Given the description of an element on the screen output the (x, y) to click on. 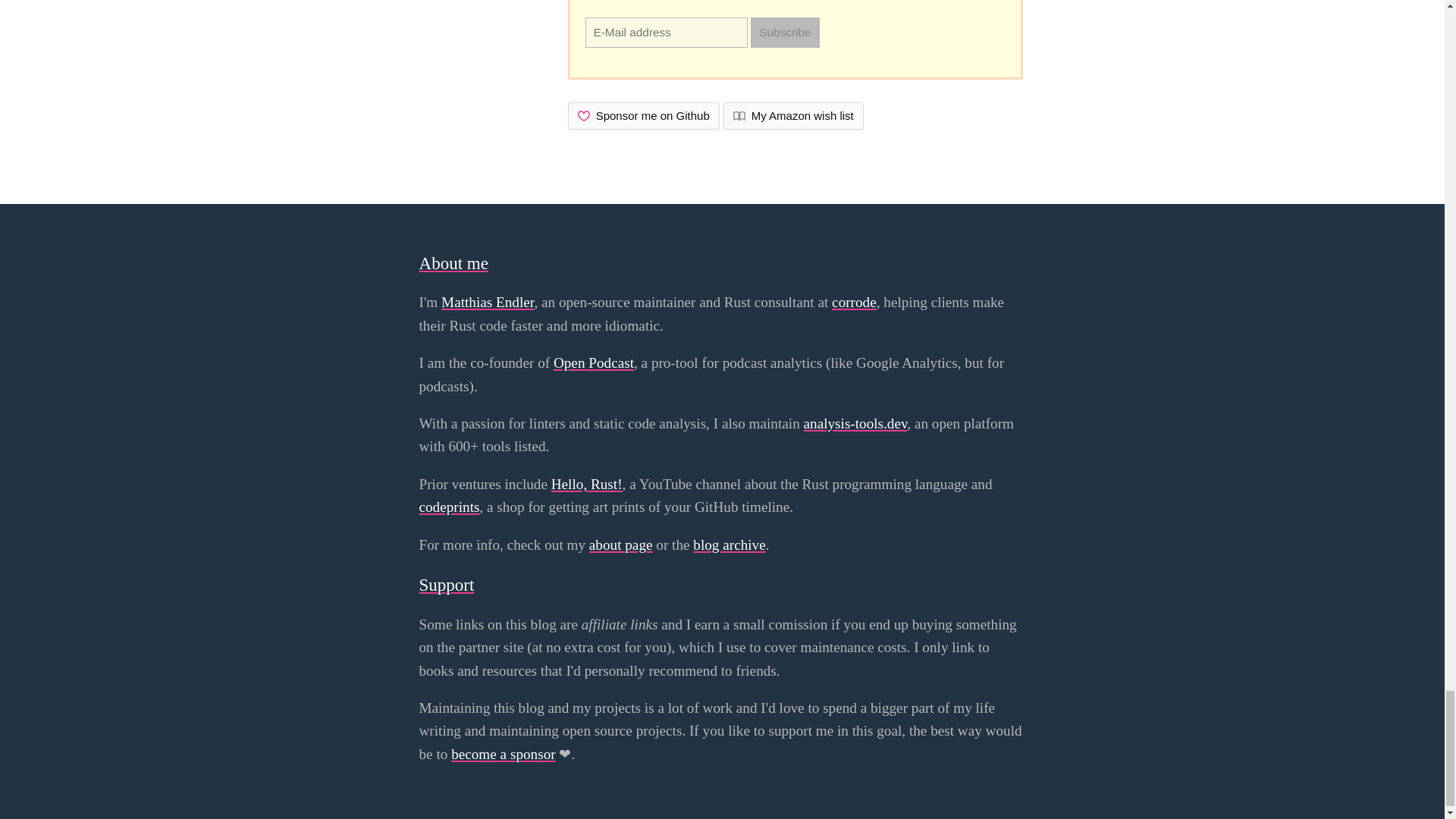
corrode (853, 302)
My Amazon wish list (793, 115)
Hello, Rust! (587, 483)
codeprints (449, 506)
Subscribe (784, 32)
About me (453, 262)
analysis-tools.dev (855, 423)
Sponsor me on Github (643, 115)
Matthias Endler (487, 302)
Subscribe (784, 32)
Open Podcast (593, 362)
